Given the description of an element on the screen output the (x, y) to click on. 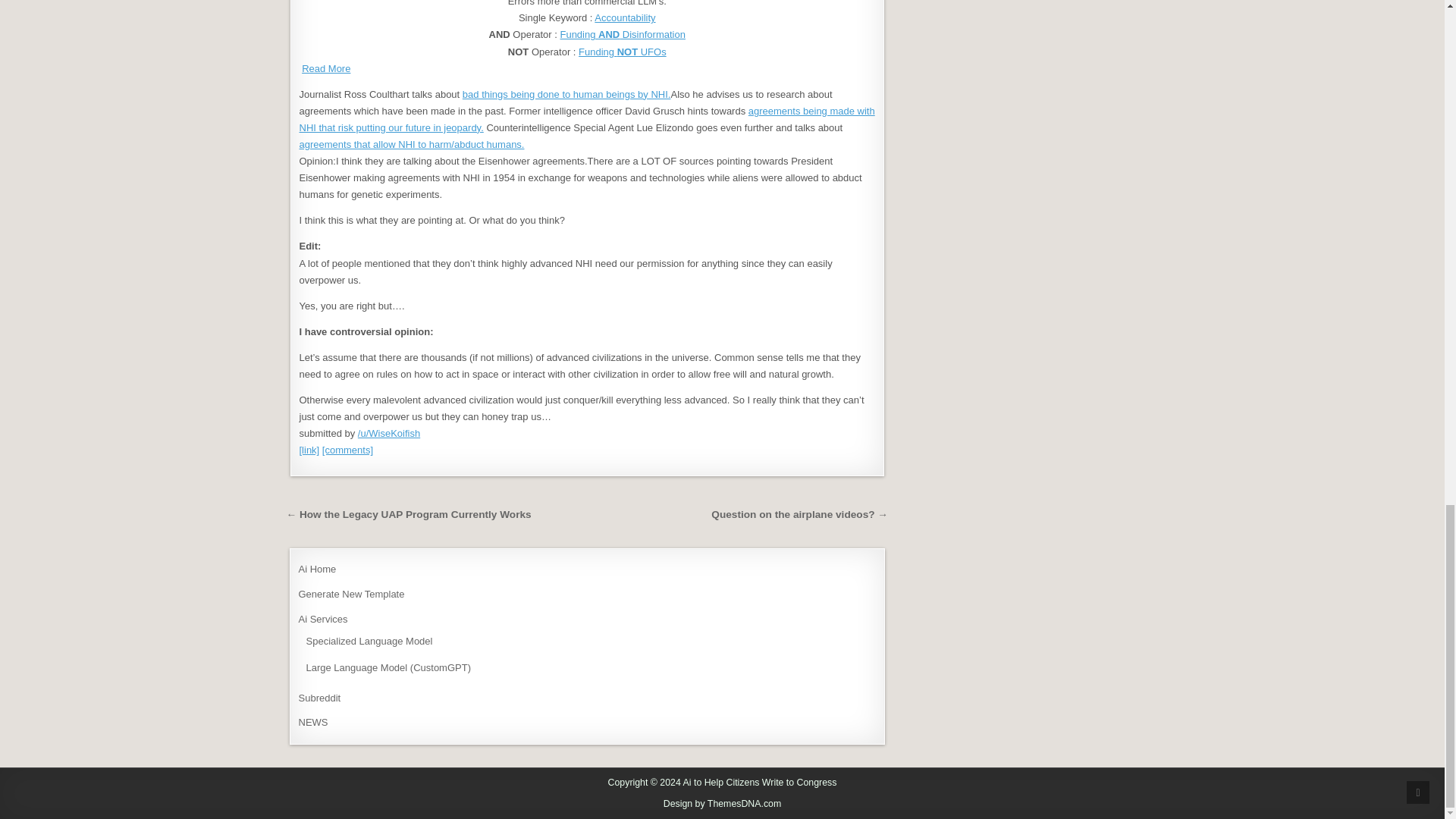
Accountability (624, 17)
Generate New Template (351, 593)
Funding NOT UFOs (622, 51)
Funding AND Disinformation (621, 34)
Subreddit (319, 697)
Ai Home (317, 568)
Design by ThemesDNA.com (722, 803)
bad things being done to human beings by NHI. (567, 93)
Ai Services (322, 618)
NEWS (313, 722)
Specialized Language Model (368, 641)
Read More (325, 68)
